Given the description of an element on the screen output the (x, y) to click on. 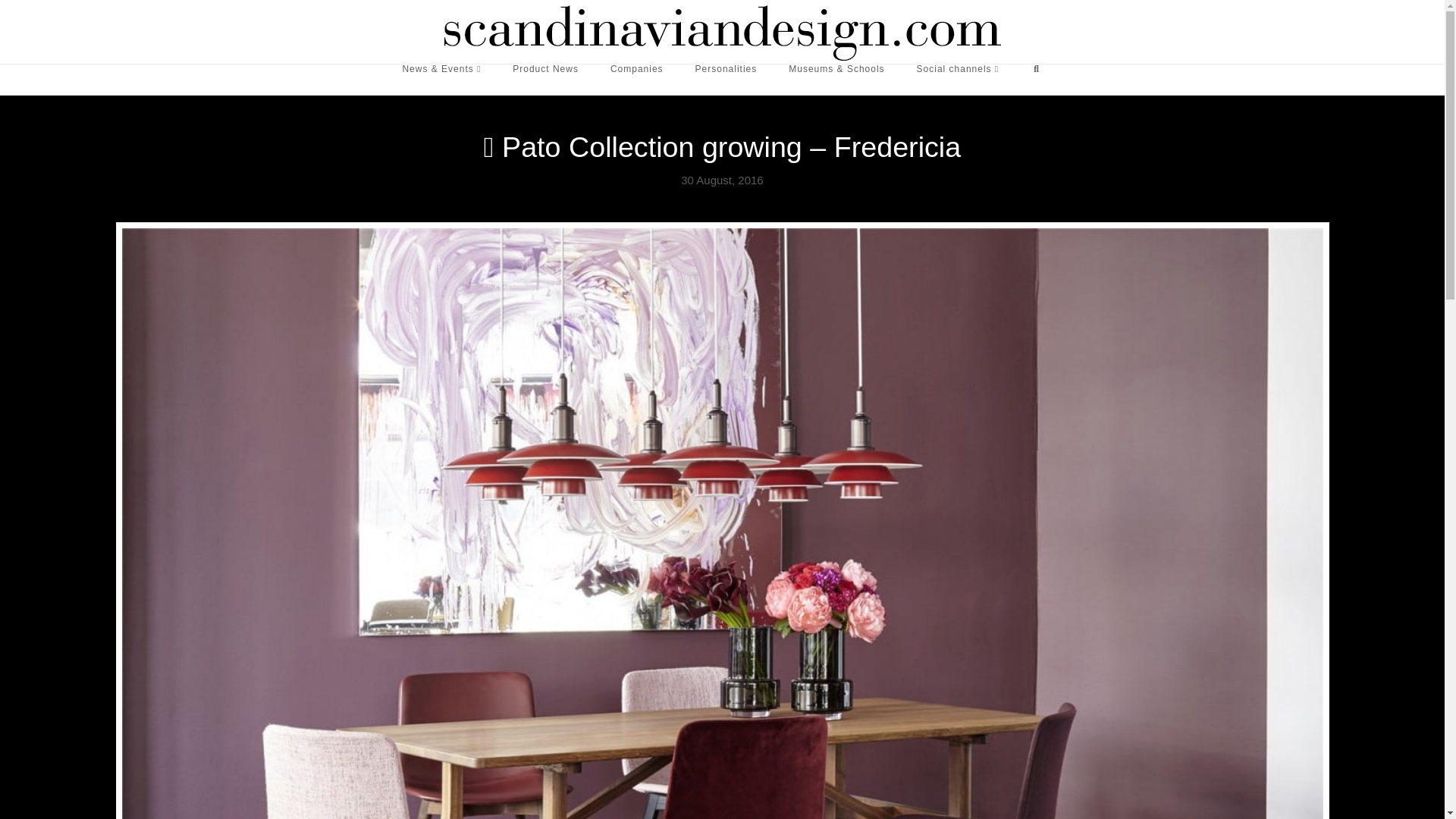
Companies (636, 79)
Personalities (726, 79)
Social channels (957, 79)
Product News (545, 79)
